Given the description of an element on the screen output the (x, y) to click on. 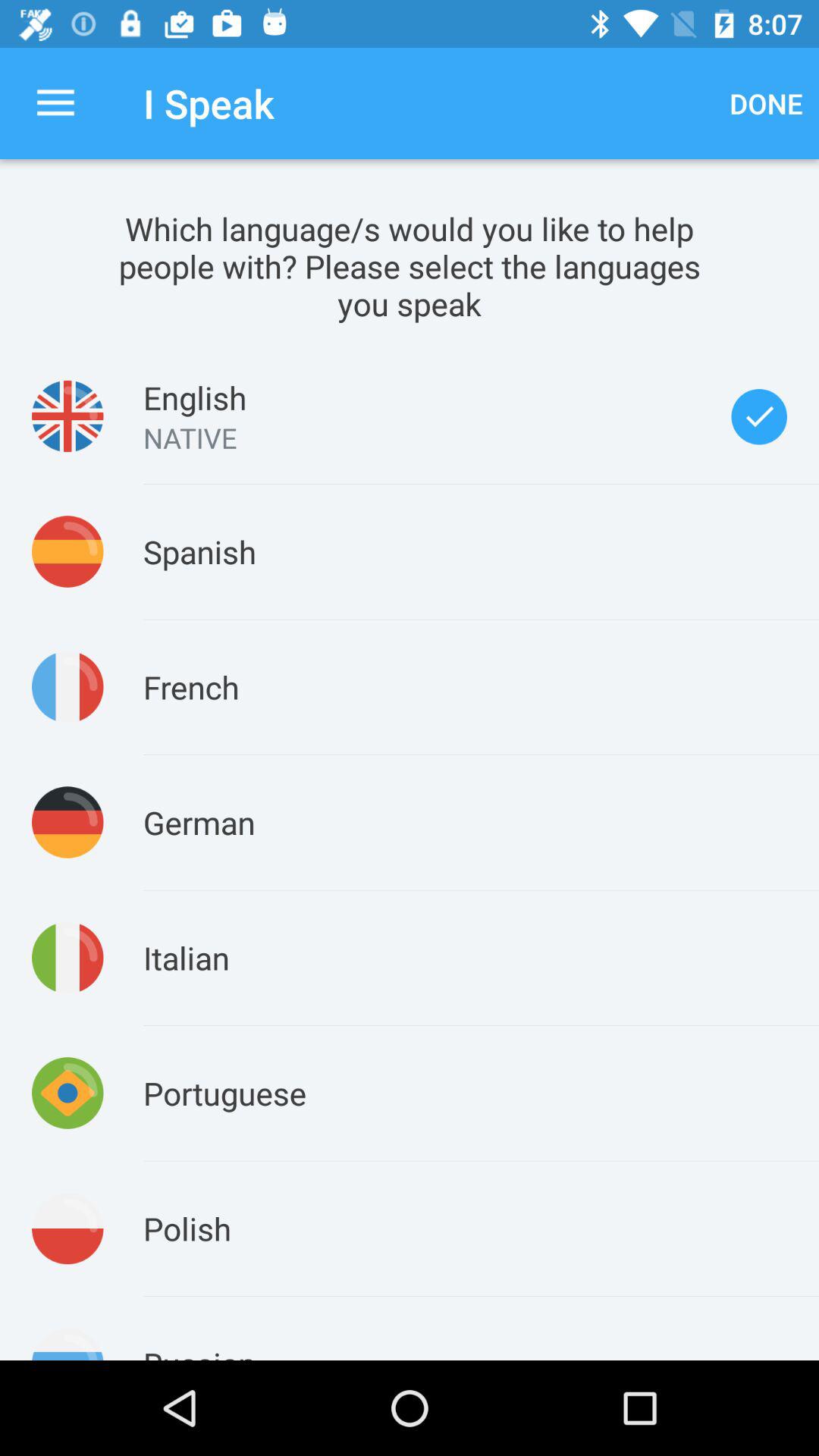
open the icon next to the i speak app (766, 103)
